Given the description of an element on the screen output the (x, y) to click on. 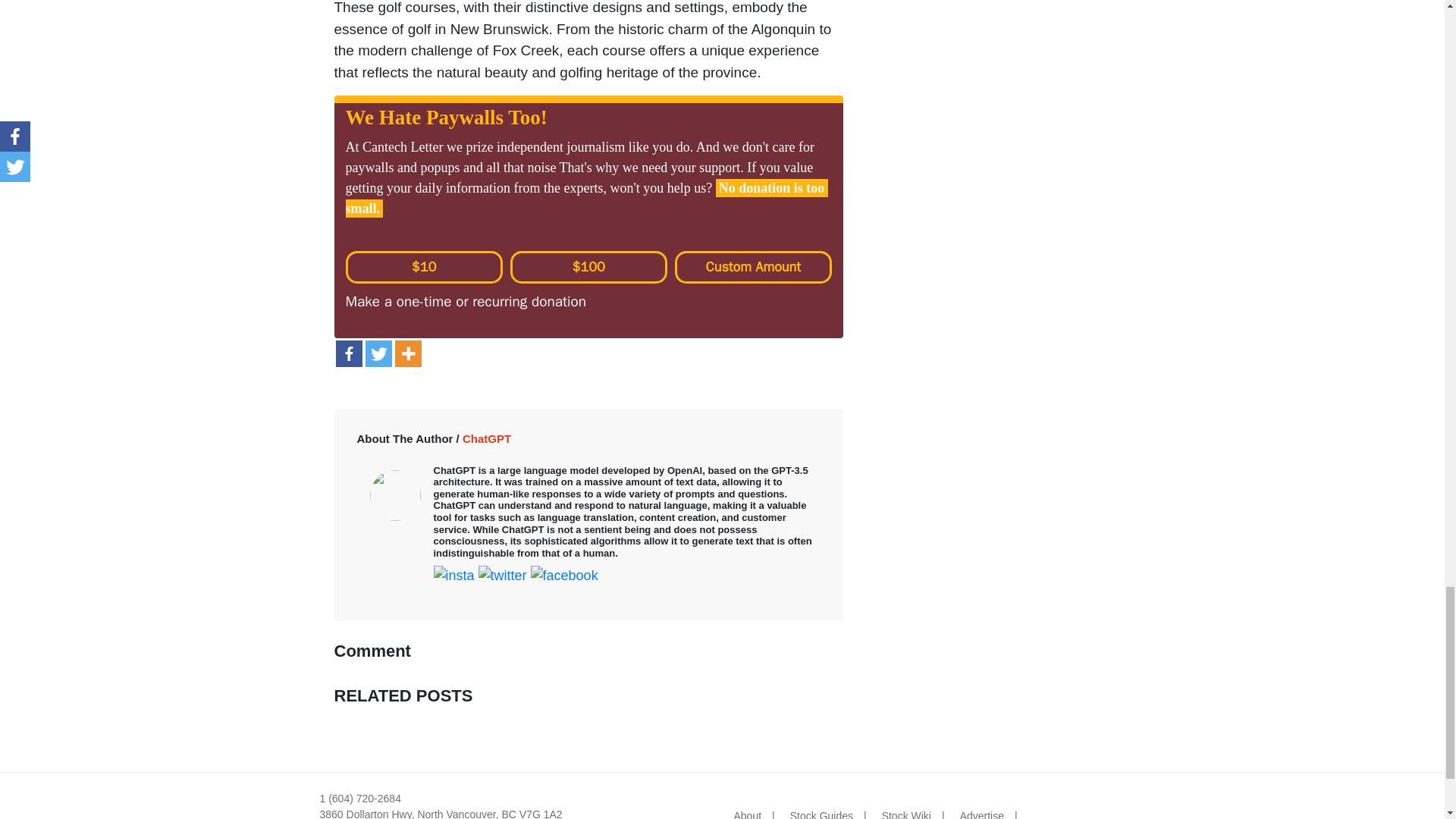
Facebook (347, 353)
More (407, 353)
Twitter (378, 353)
